Given the description of an element on the screen output the (x, y) to click on. 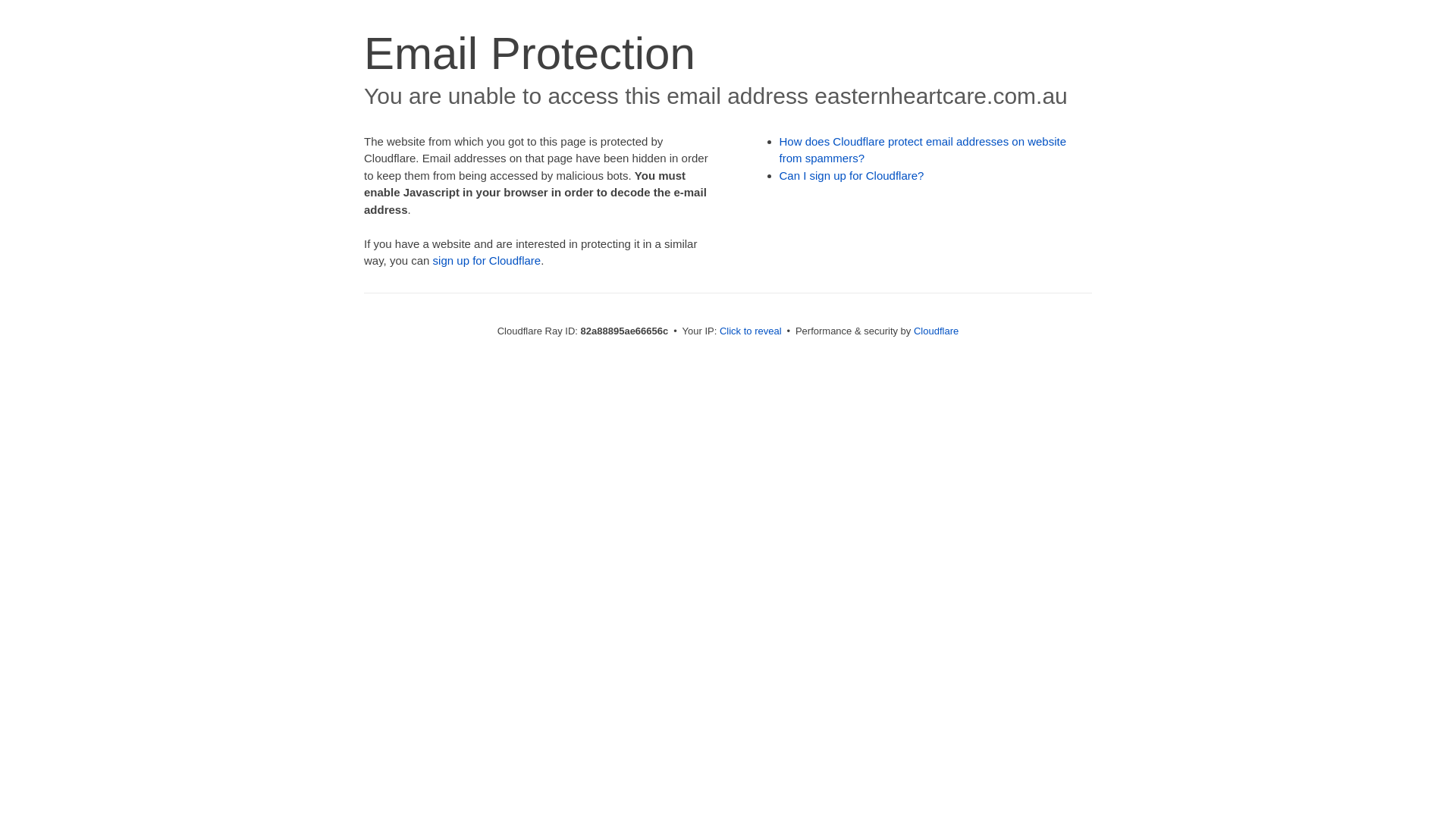
Can I sign up for Cloudflare? Element type: text (851, 175)
sign up for Cloudflare Element type: text (487, 260)
Click to reveal Element type: text (750, 330)
Cloudflare Element type: text (935, 330)
